Given the description of an element on the screen output the (x, y) to click on. 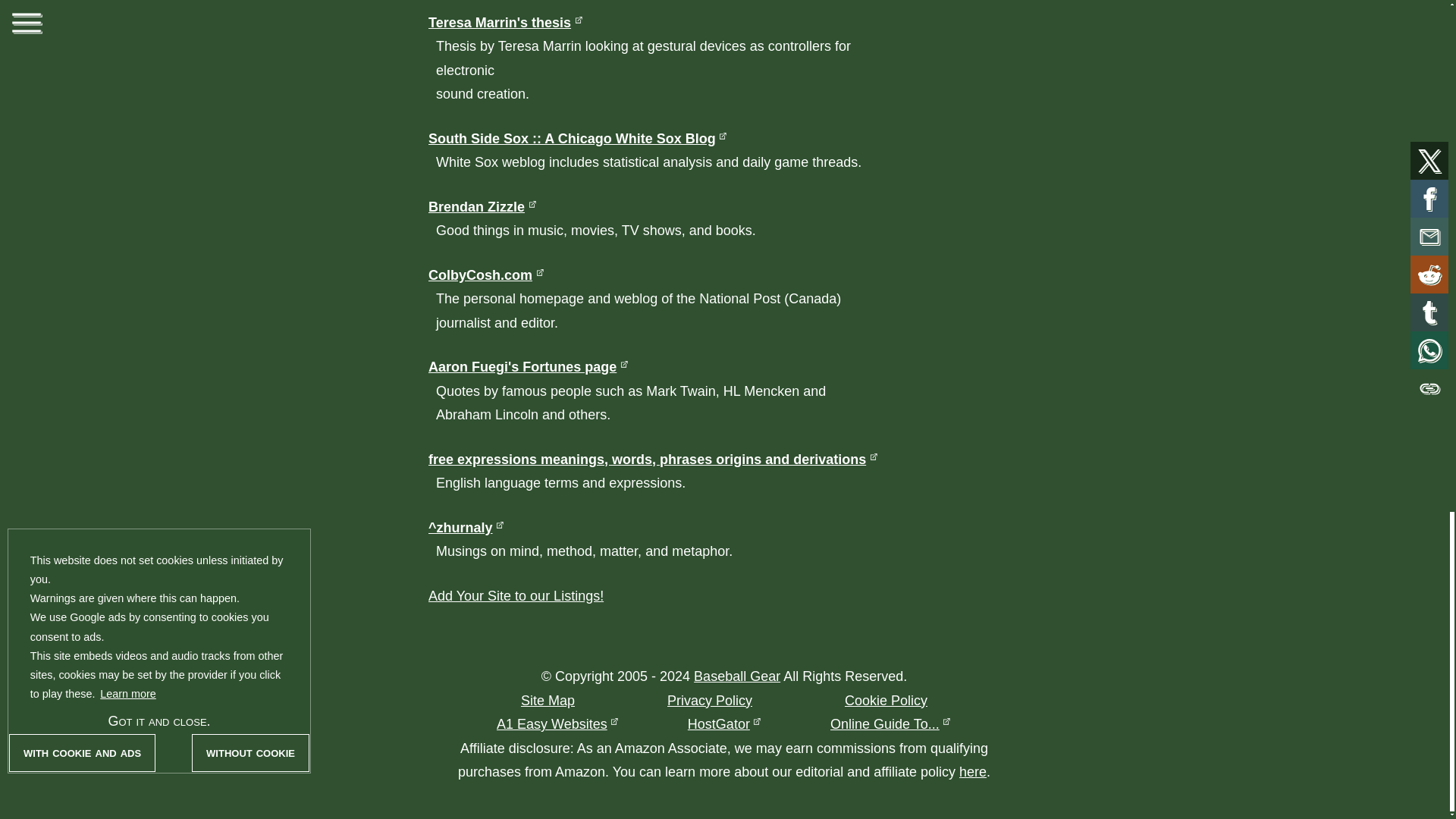
here (973, 771)
South Side Sox :: A Chicago White Sox Blog (578, 138)
HostGator (724, 724)
Teresa Marrin's thesis (505, 22)
Add Your Site to our Listings! (516, 595)
Aaron Fuegi's Fortunes page (528, 366)
Baseball Gear (737, 676)
ColbyCosh.com (486, 274)
Site Map (548, 700)
Cookie Policy (885, 700)
Baseball Gear Cookie Policy (885, 700)
Baseball Gear (737, 676)
Baseball Gear Privacy Policy (709, 700)
Privacy Policy (709, 700)
